Given the description of an element on the screen output the (x, y) to click on. 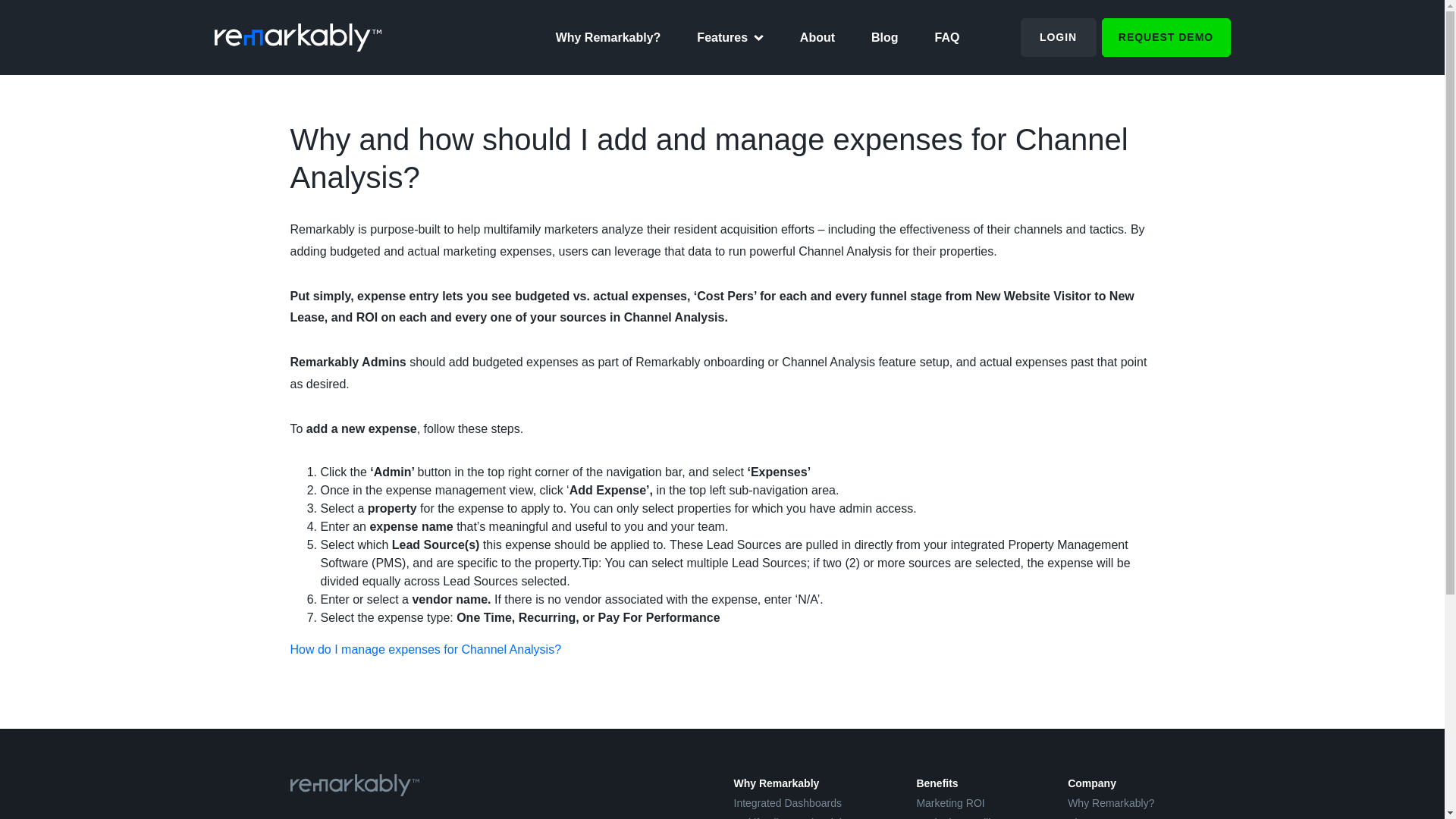
Multifamily Trend Insights (793, 817)
Marketing ROI (949, 802)
Why Remarkably? (1110, 802)
LOGIN (1058, 37)
Marketing Intelligence (967, 817)
Why Remarkably? (608, 37)
Company (1091, 783)
Integrated Dashboards (787, 802)
Why Remarkably (776, 783)
REQUEST DEMO (1165, 37)
